Given the description of an element on the screen output the (x, y) to click on. 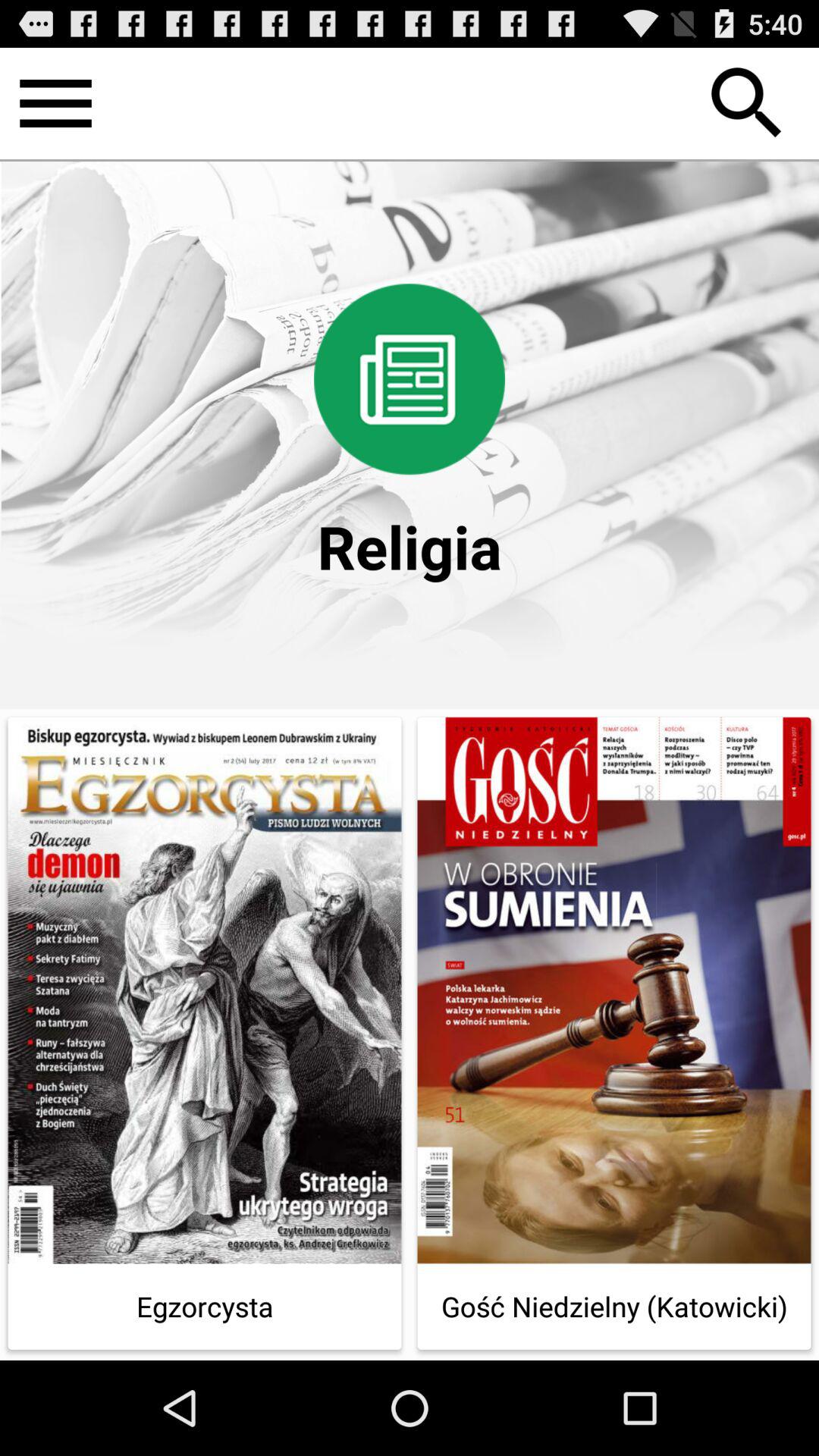
go somewhere else in the app (55, 103)
